Given the description of an element on the screen output the (x, y) to click on. 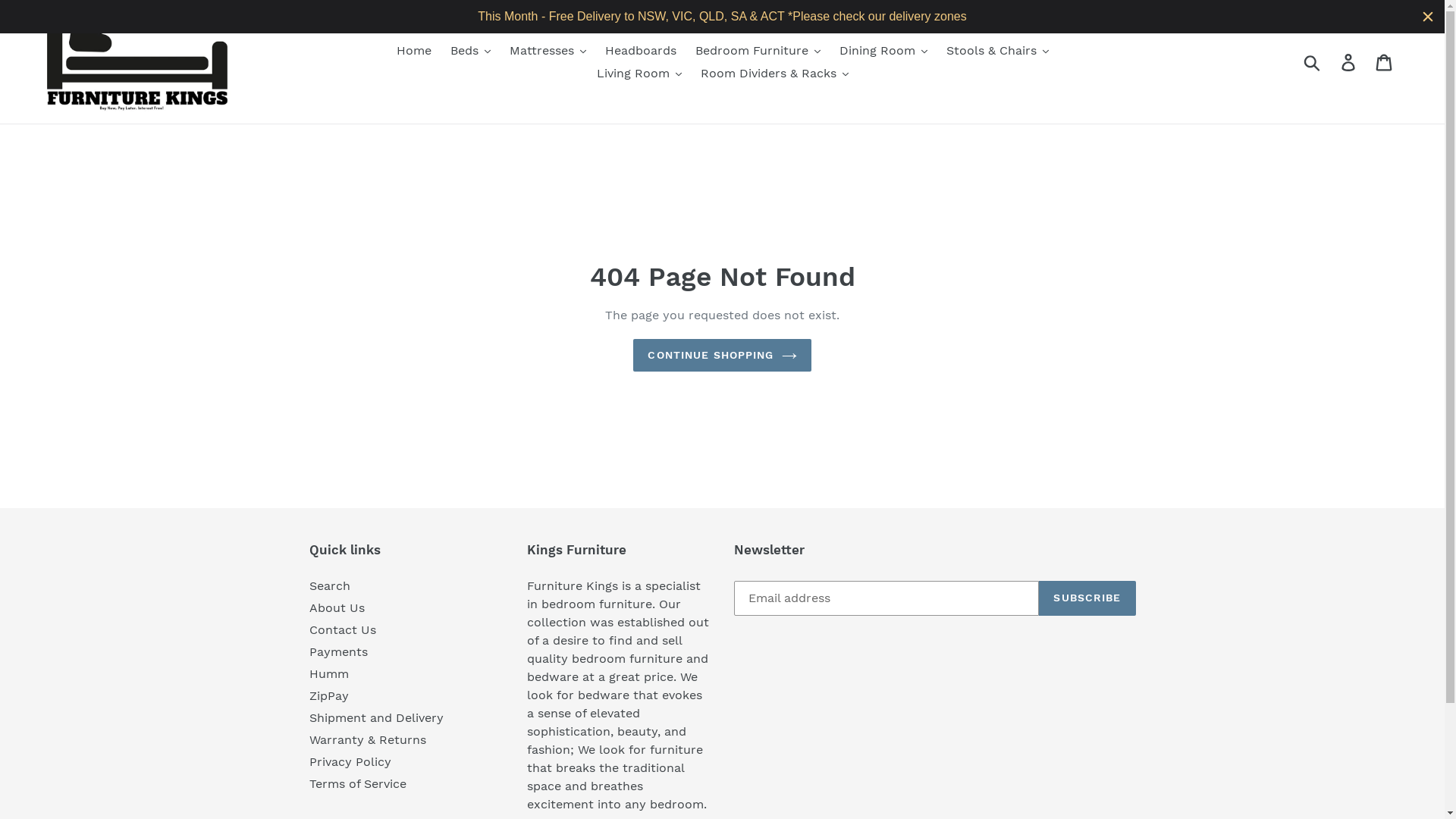
Warranty & Returns Element type: text (367, 739)
SUBSCRIBE Element type: text (1086, 597)
Shipment and Delivery Element type: text (376, 717)
Cart Element type: text (1384, 61)
ZipPay Element type: text (328, 695)
CONTINUE SHOPPING Element type: text (721, 354)
Contact Us Element type: text (342, 629)
Search Element type: text (329, 585)
Privacy Policy Element type: text (350, 761)
Home Element type: text (413, 50)
Payments Element type: text (338, 651)
Humm Element type: text (328, 673)
Headboards Element type: text (640, 50)
Log in Element type: text (1349, 61)
Submit Element type: text (1312, 61)
About Us Element type: text (336, 607)
Terms of Service Element type: text (357, 783)
